Given the description of an element on the screen output the (x, y) to click on. 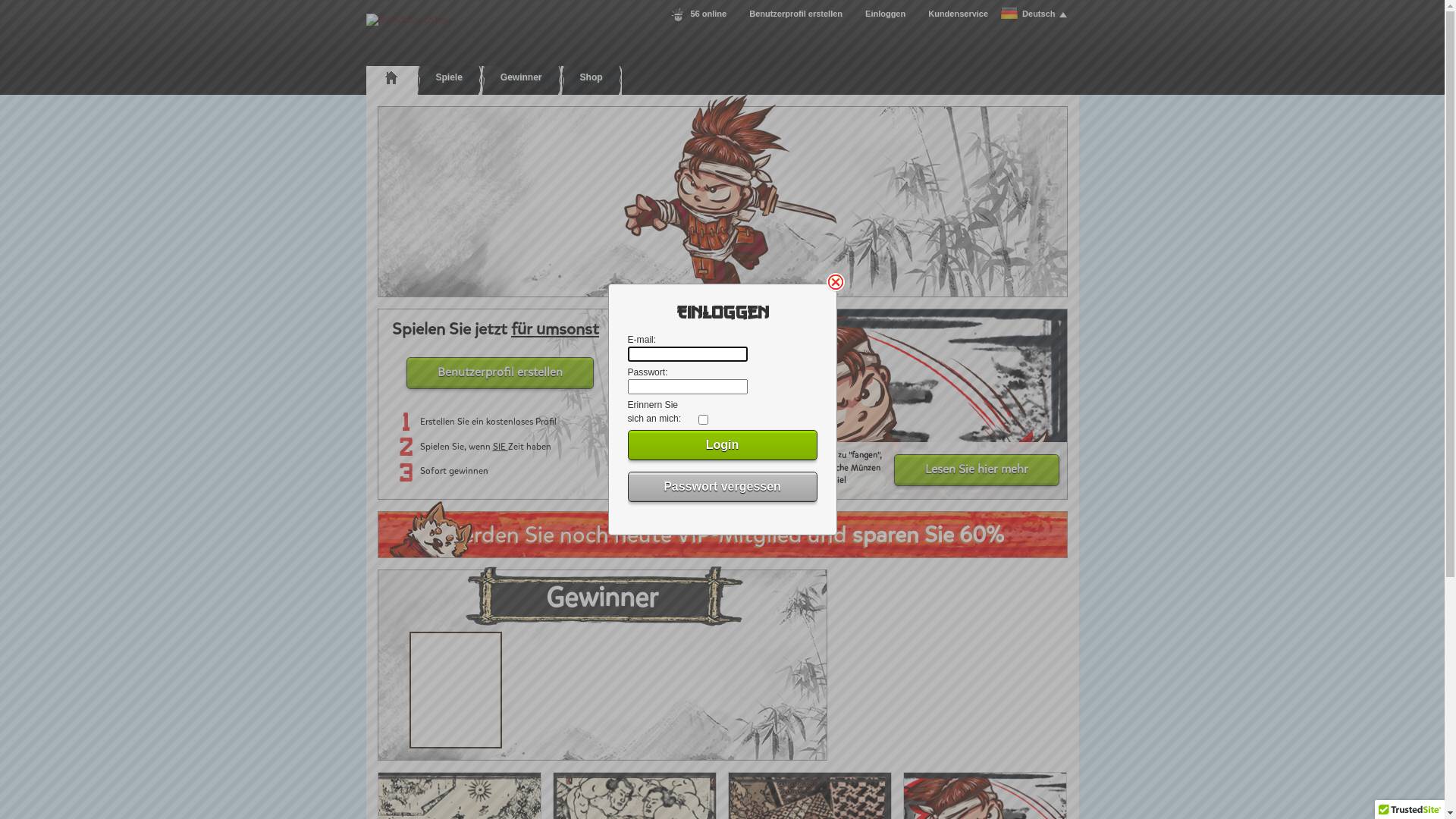
  Element type: text (721, 201)
Passwort vergessen Element type: text (722, 486)
Werden Sie noch heute VIP-Mitglied und sparen Sie 60% Element type: text (722, 534)
Einloggen Element type: text (885, 13)
Gewinner Element type: text (602, 664)
Benutzerprofil erstellen Element type: text (795, 13)
Gehe zu Slide #2 Element type: hover (660, 330)
Shop Element type: text (591, 76)
Startseite Element type: hover (407, 19)
Kundenservice Element type: text (958, 13)
Gehe zu Slide #3 Element type: hover (684, 330)
  Element type: text (390, 76)
Spiele Element type: hover (721, 201)
Benutzerprofil erstellen Element type: text (499, 373)
Lesen Sie hier mehr Element type: text (975, 470)
Gewinner Element type: text (521, 76)
Gehe zu Slide #1 Element type: hover (635, 330)
Startseite Element type: hover (390, 76)
Spiele Element type: text (449, 76)
Deutsch
  Element type: text (1032, 14)
Login Element type: text (722, 444)
